Given the description of an element on the screen output the (x, y) to click on. 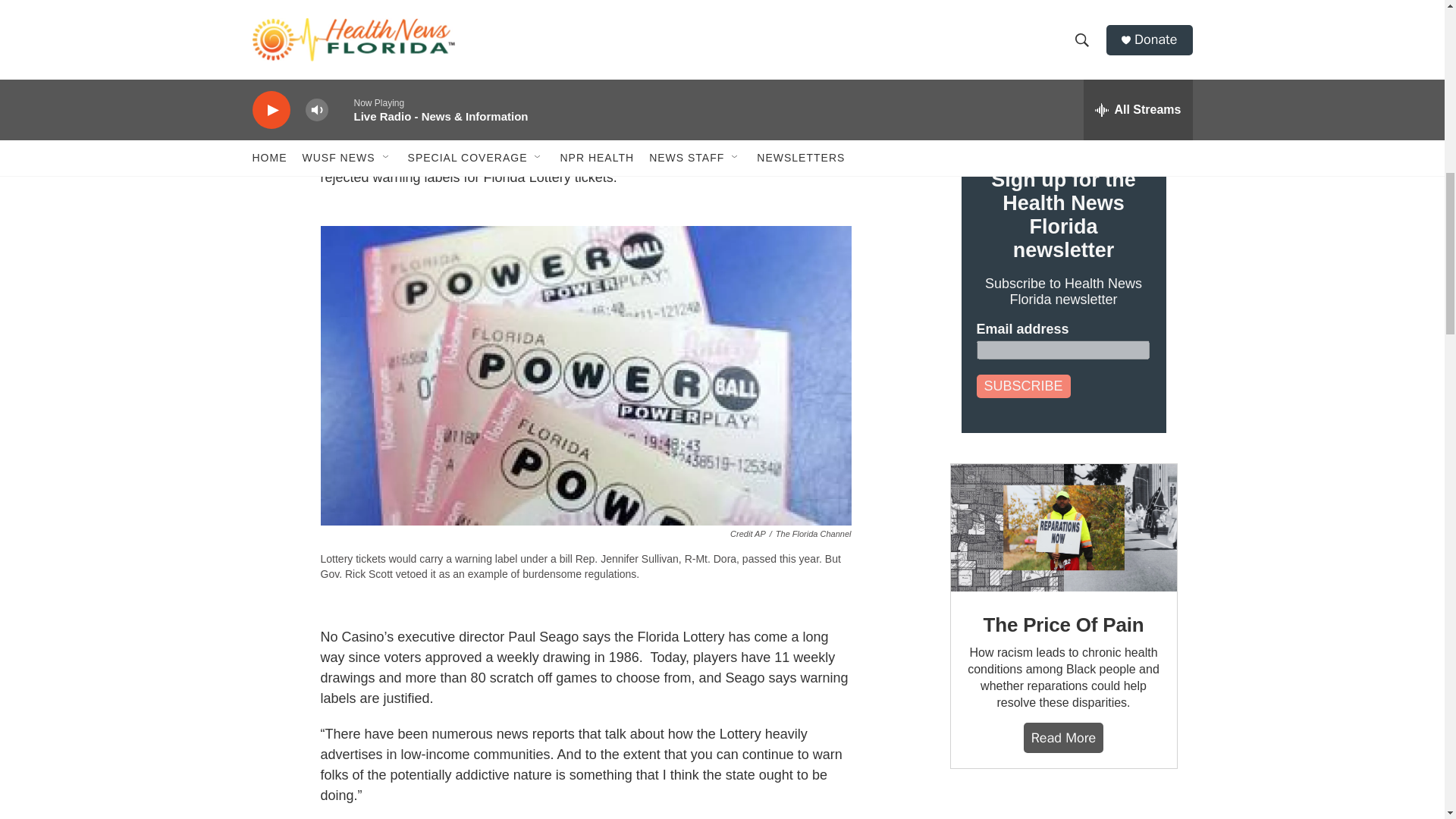
3rd party ad content (1062, 809)
